Given the description of an element on the screen output the (x, y) to click on. 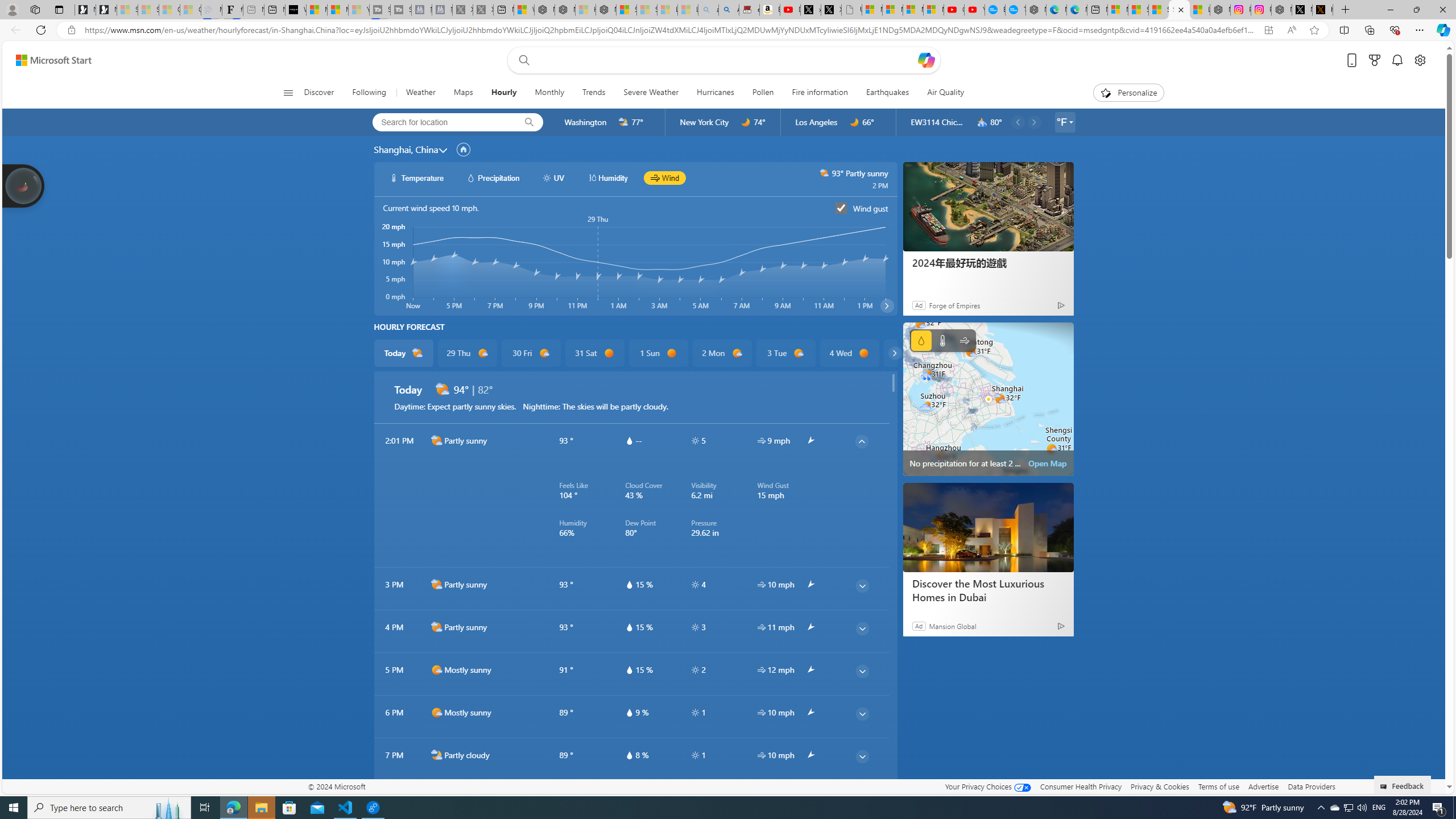
Privacy & Cookies (1160, 785)
Air Quality (945, 92)
common/carouselChevron (894, 352)
d0000 (864, 353)
Weather (420, 92)
d2000 (436, 627)
Trends (593, 92)
